Given the description of an element on the screen output the (x, y) to click on. 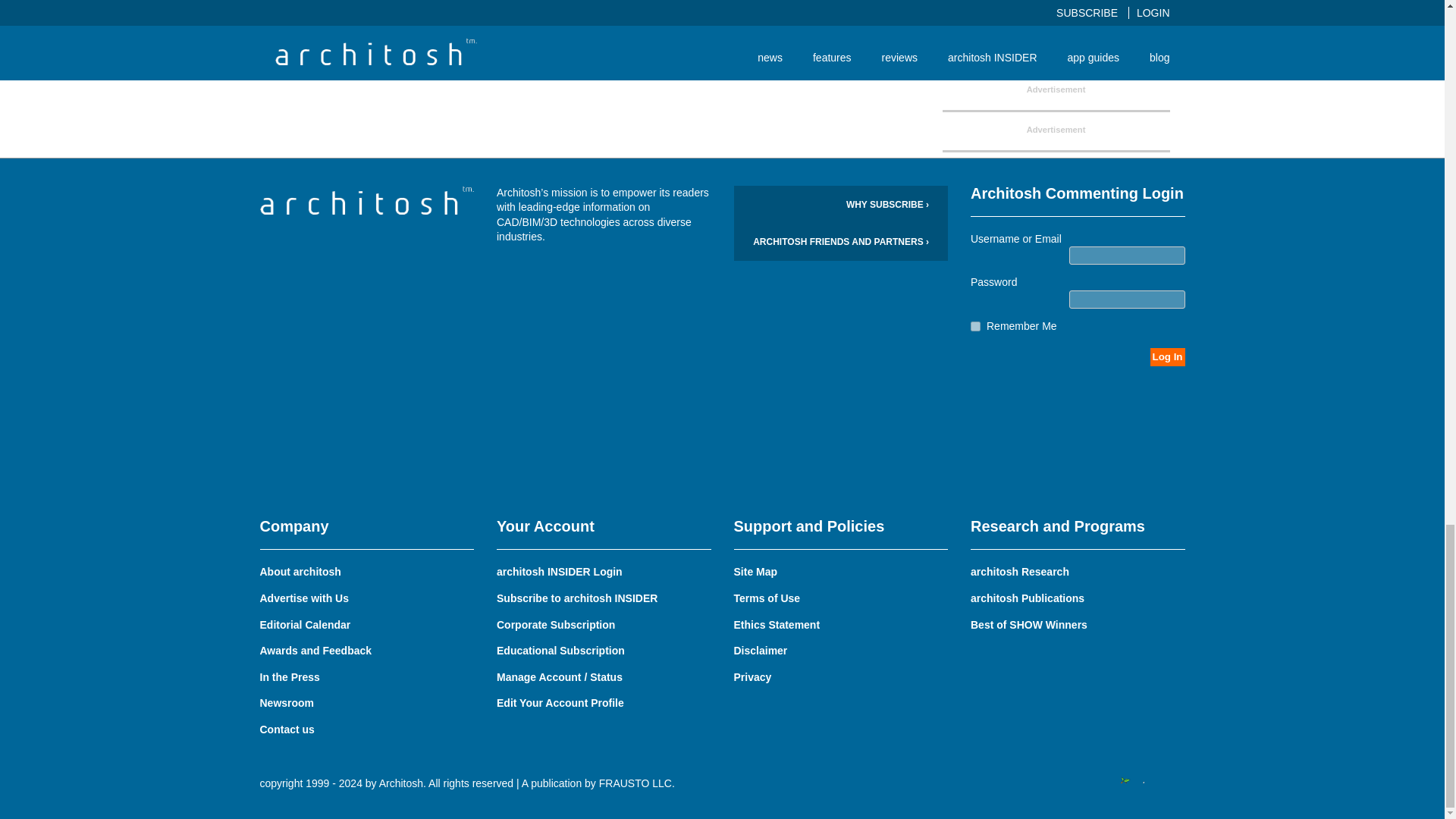
Log In (1167, 357)
Development by 9seeds (1104, 783)
forever (975, 326)
